Given the description of an element on the screen output the (x, y) to click on. 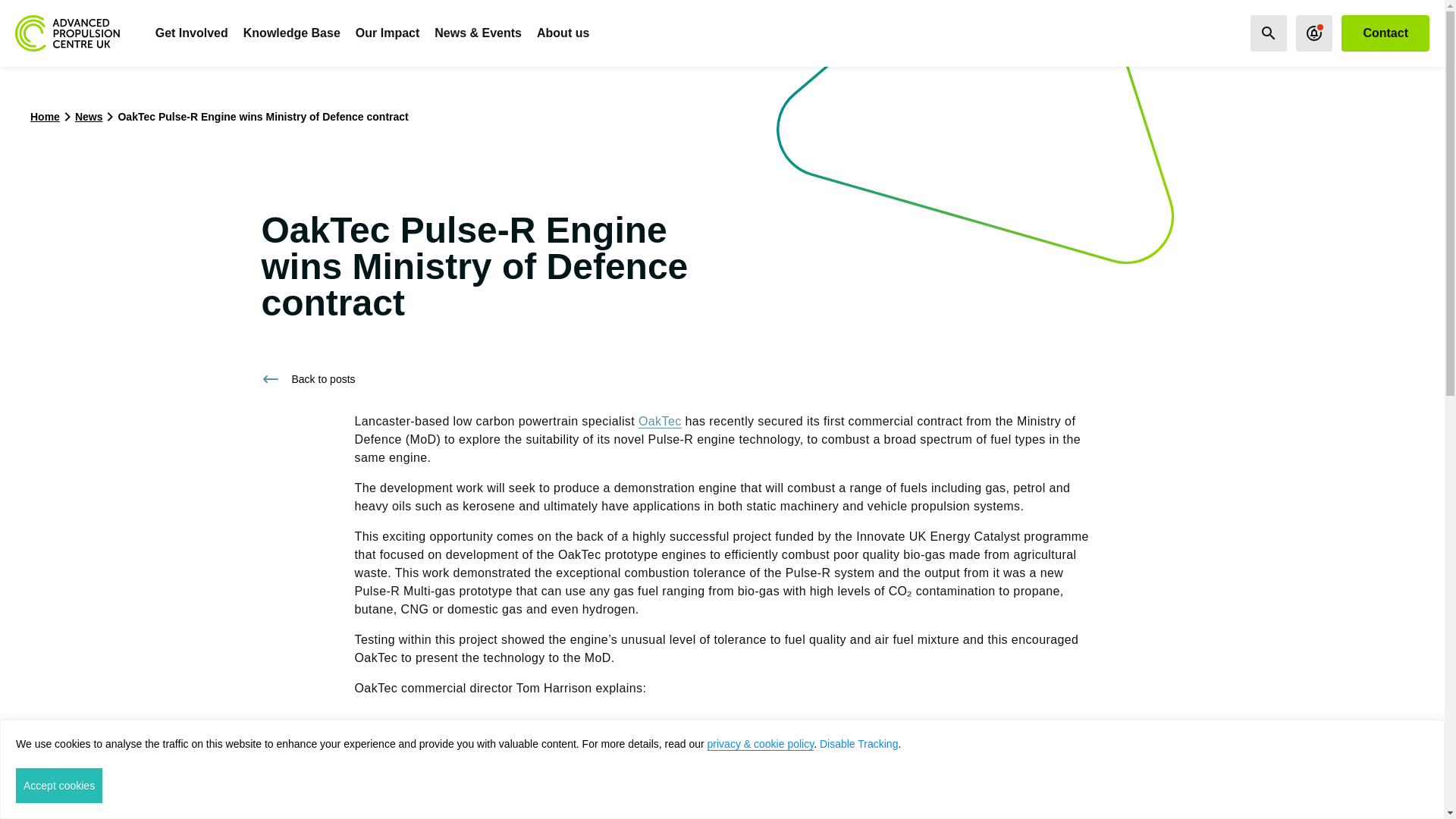
Accept cookies (58, 785)
